Given the description of an element on the screen output the (x, y) to click on. 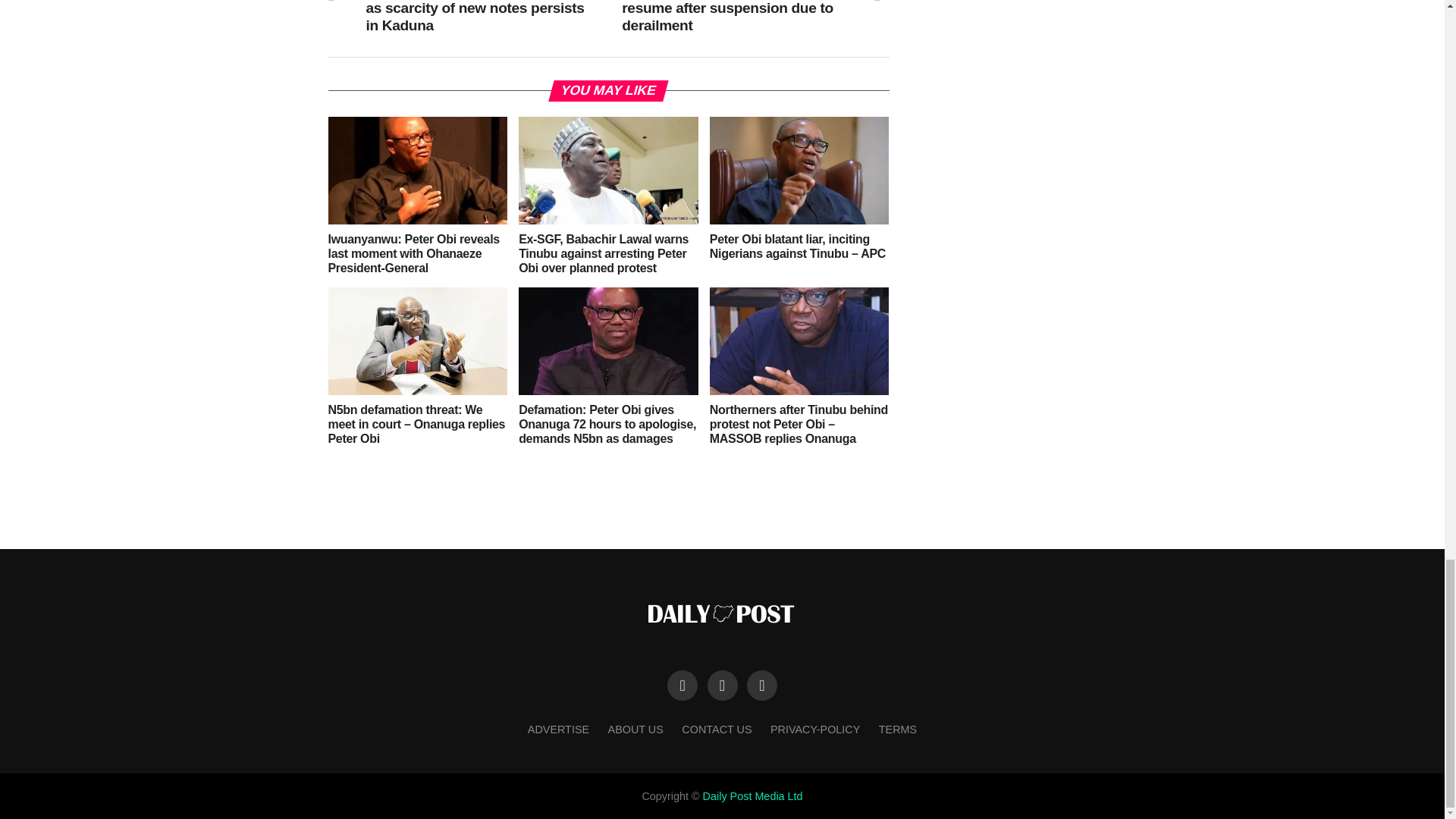
ADVERTISE (558, 729)
ABOUT US (635, 729)
